Given the description of an element on the screen output the (x, y) to click on. 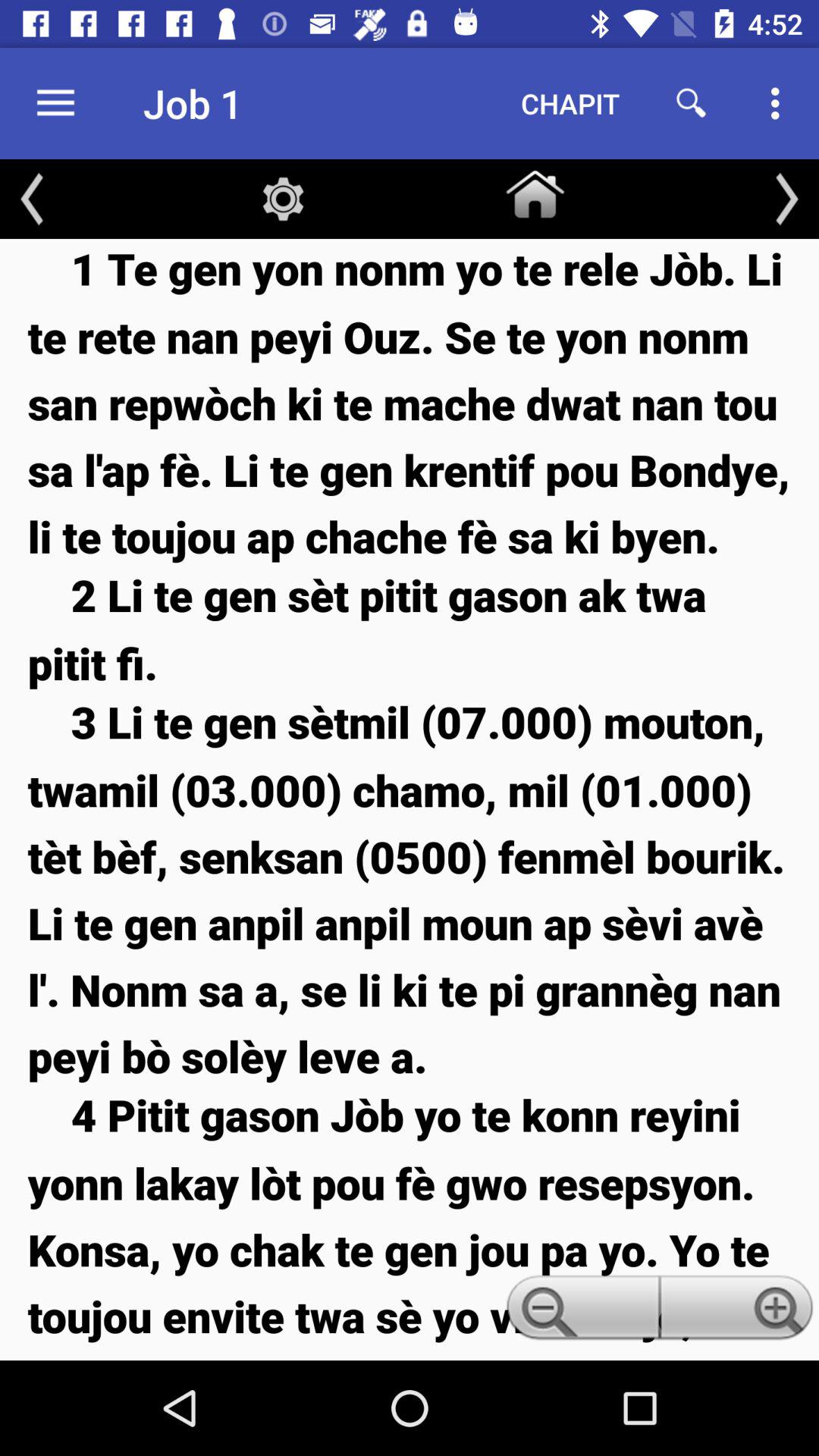
select item to the left of job 1 item (55, 103)
